Given the description of an element on the screen output the (x, y) to click on. 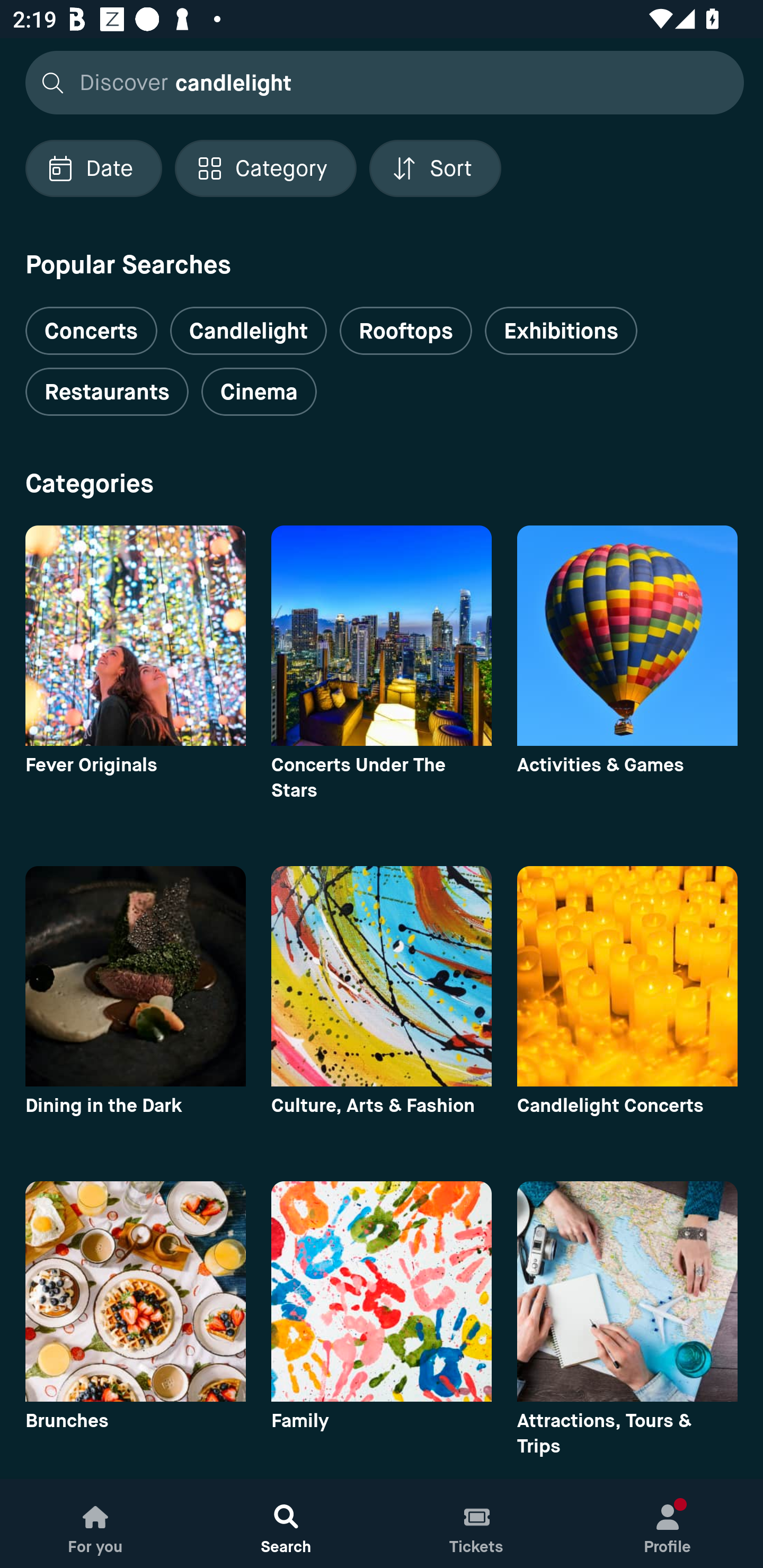
Discover candlelight (379, 81)
Localized description Date (93, 168)
Localized description Category (265, 168)
Localized description Sort (435, 168)
Concerts (91, 323)
Candlelight (248, 330)
Rooftops (405, 330)
Exhibitions (560, 330)
Restaurants (106, 391)
Cinema (258, 391)
category image (135, 635)
category image (381, 635)
category image (627, 635)
category image (135, 975)
category image (381, 975)
category image (627, 975)
category image (135, 1290)
category image (381, 1290)
category image (627, 1290)
For you (95, 1523)
Tickets (476, 1523)
Profile, New notification Profile (667, 1523)
